Given the description of an element on the screen output the (x, y) to click on. 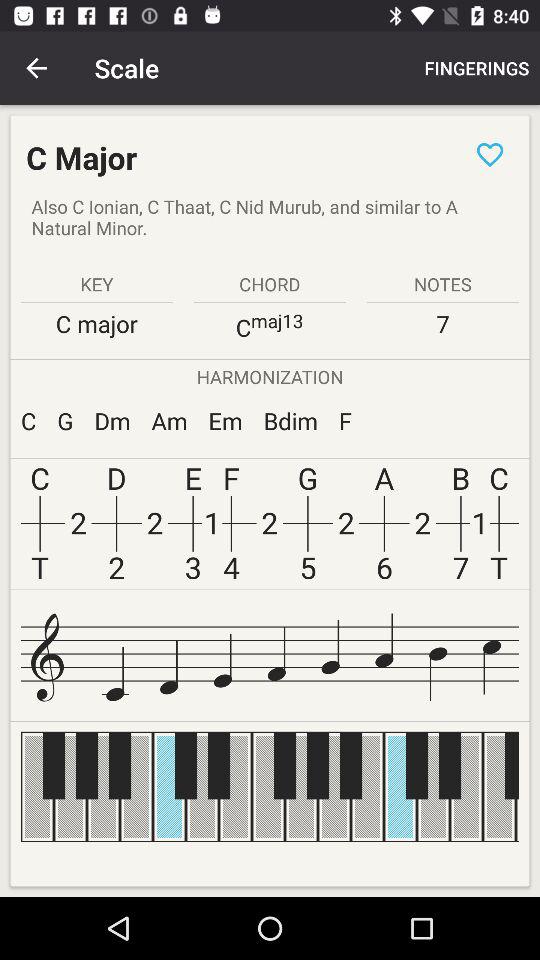
turn off the item to the right of c major (490, 154)
